Given the description of an element on the screen output the (x, y) to click on. 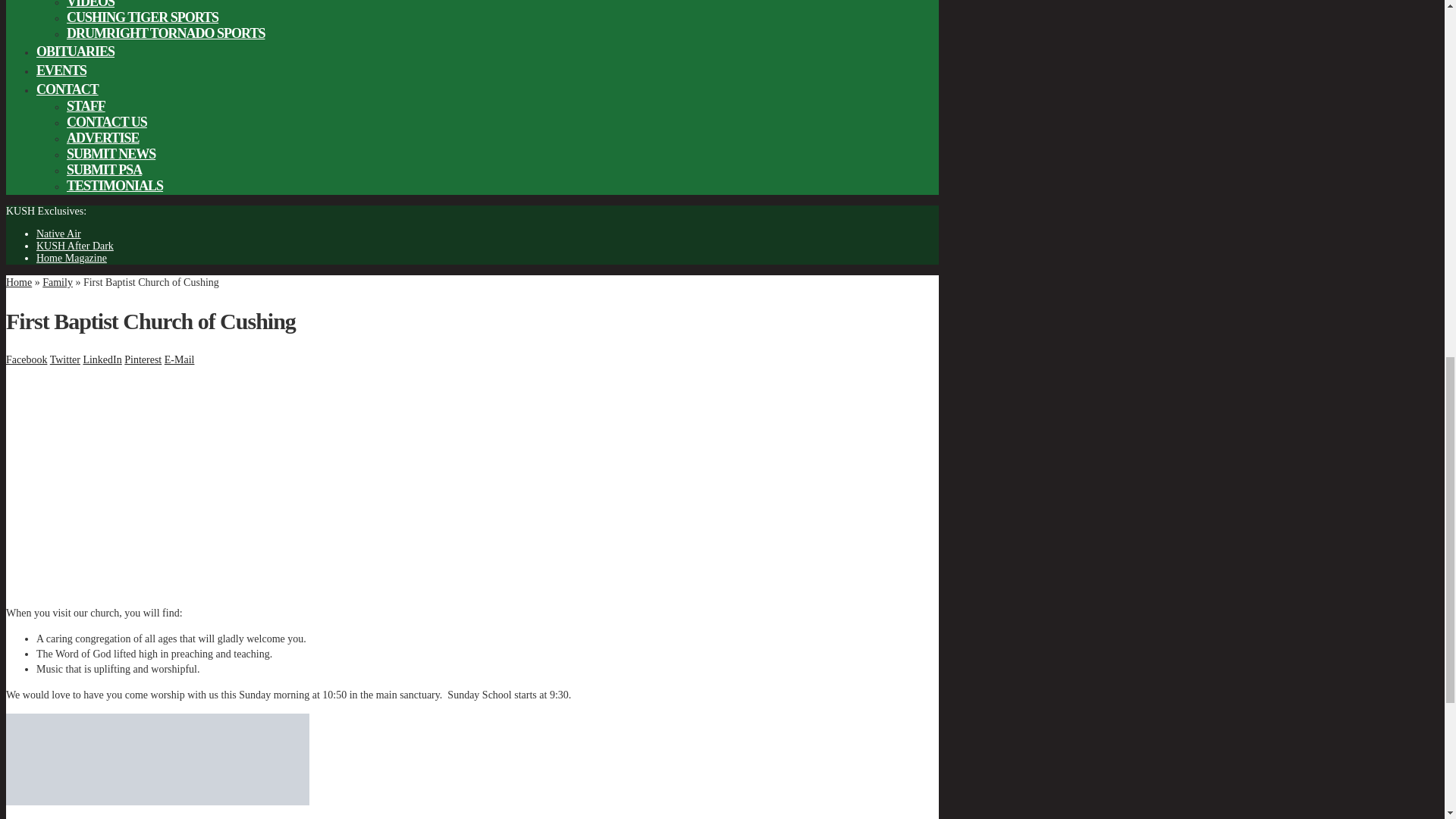
VIDEOS (90, 4)
Share to E-Mail (179, 359)
Share to Twitter (64, 359)
Share to Pinterest (142, 359)
Share to LinkedIn (101, 359)
Share to Facebook (25, 359)
